Given the description of an element on the screen output the (x, y) to click on. 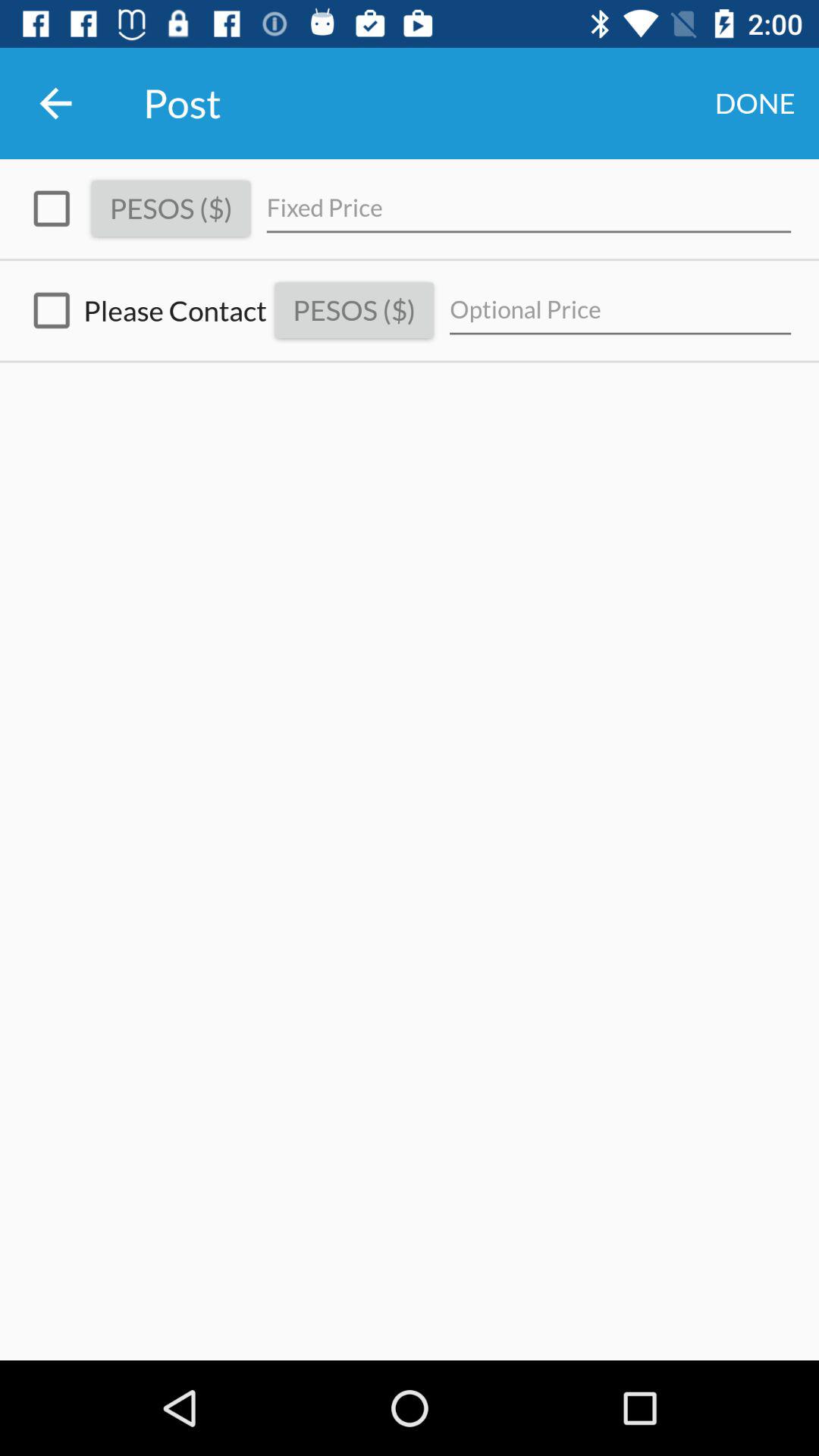
write an optional price (620, 310)
